Given the description of an element on the screen output the (x, y) to click on. 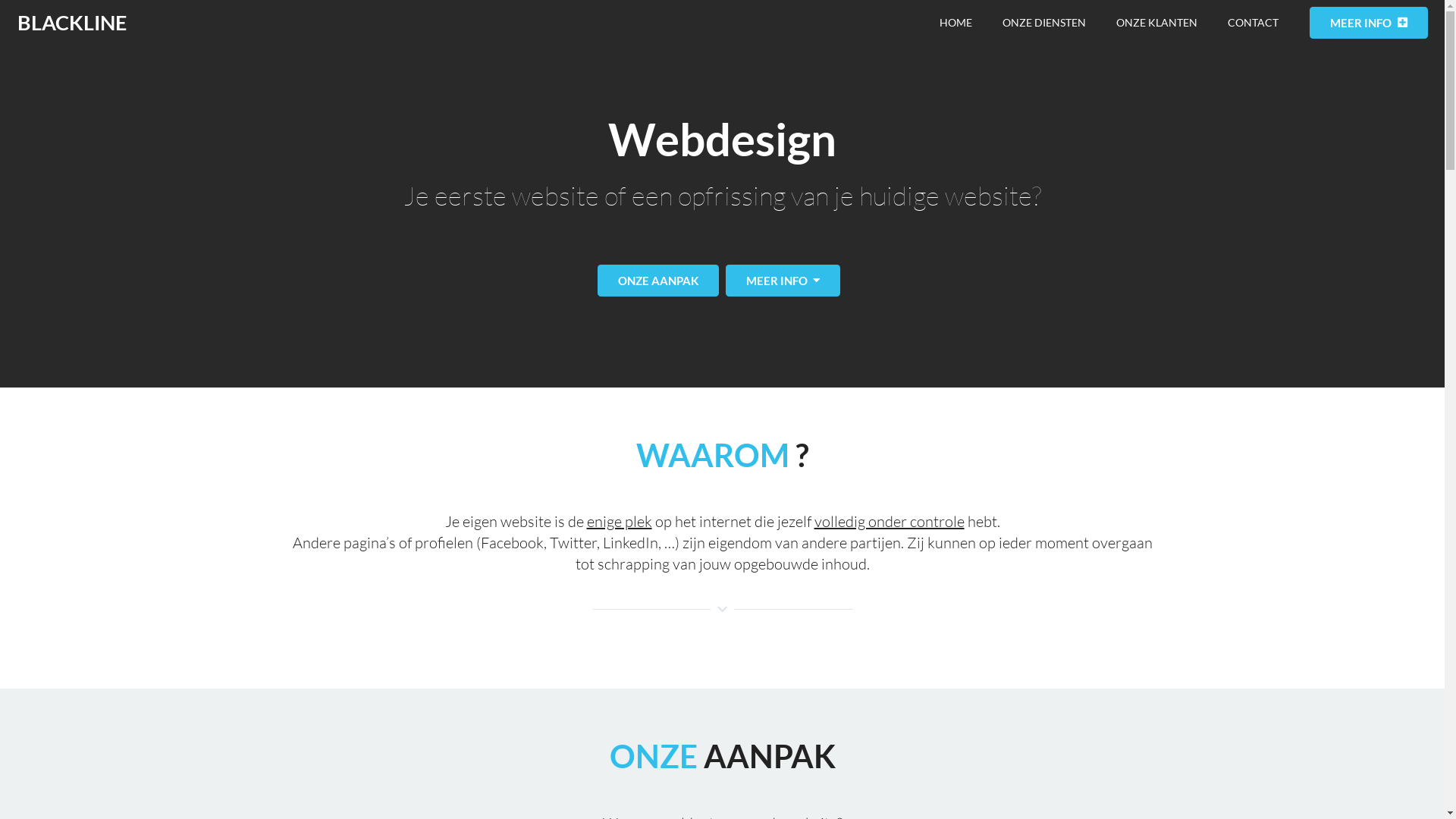
ONZE AANPAK Element type: text (657, 280)
ONZE KLANTEN Element type: text (1156, 22)
HOME Element type: text (955, 22)
MEER INFO Element type: text (1368, 22)
CONTACT Element type: text (1252, 22)
MEER INFO Element type: text (782, 280)
BLACKLINE Element type: text (70, 21)
ONZE DIENSTEN Element type: text (1044, 22)
